Given the description of an element on the screen output the (x, y) to click on. 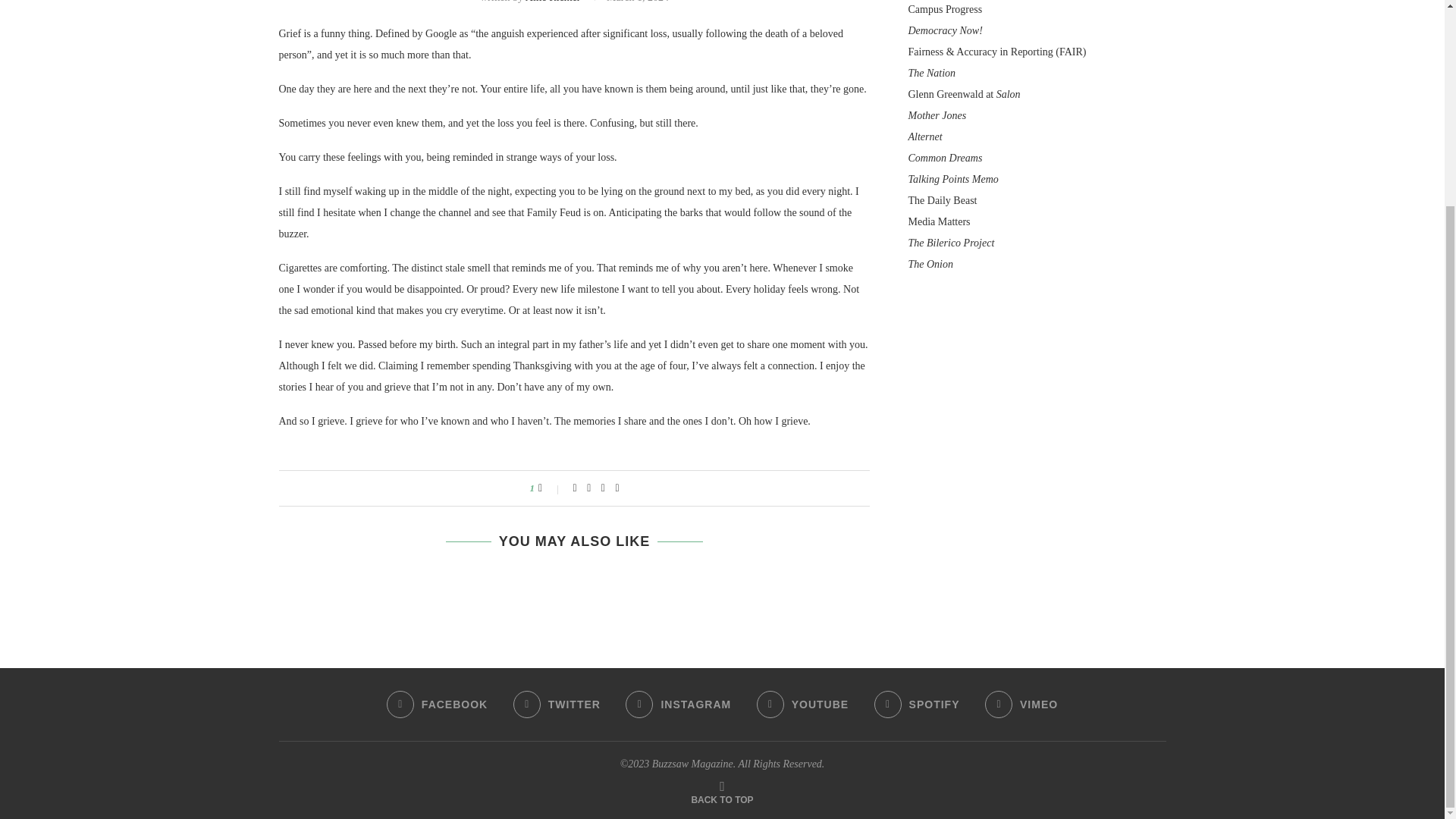
Like (550, 488)
